Given the description of an element on the screen output the (x, y) to click on. 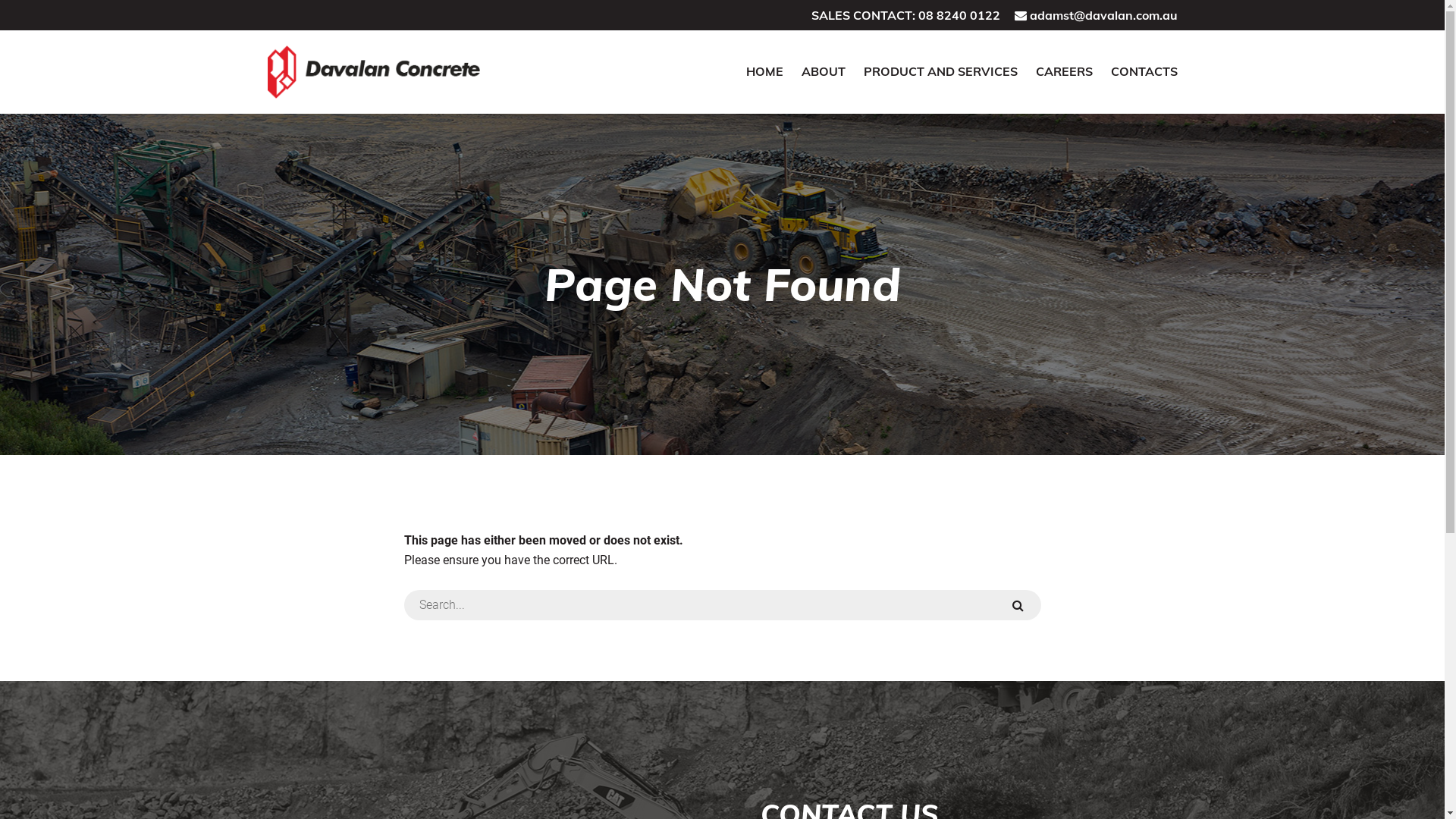
CAREERS Element type: text (1063, 71)
PRODUCT AND SERVICES Element type: text (939, 71)
08 8240 0122 Element type: text (958, 14)
adamst@davalan.com.au Element type: text (1103, 14)
ABOUT Element type: text (822, 71)
CONTACTS Element type: text (1143, 71)
HOME Element type: text (764, 71)
